Given the description of an element on the screen output the (x, y) to click on. 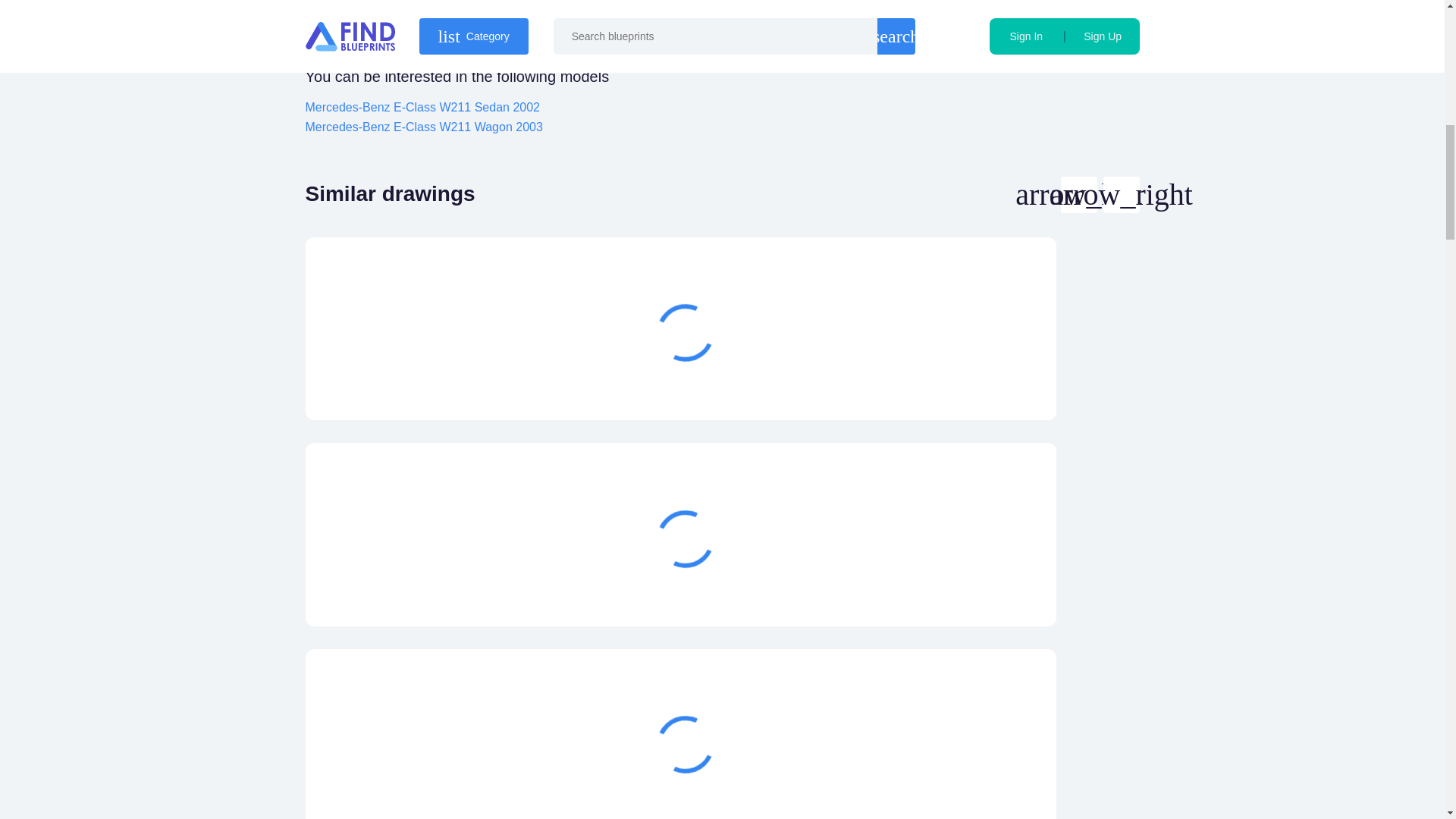
More (962, 589)
More (962, 383)
More (962, 795)
Mercedes-Benz E-Class W211 Wagon 2003 (422, 126)
Mercedes-Benz E-Class W211 Sedan 2002 (422, 106)
